Given the description of an element on the screen output the (x, y) to click on. 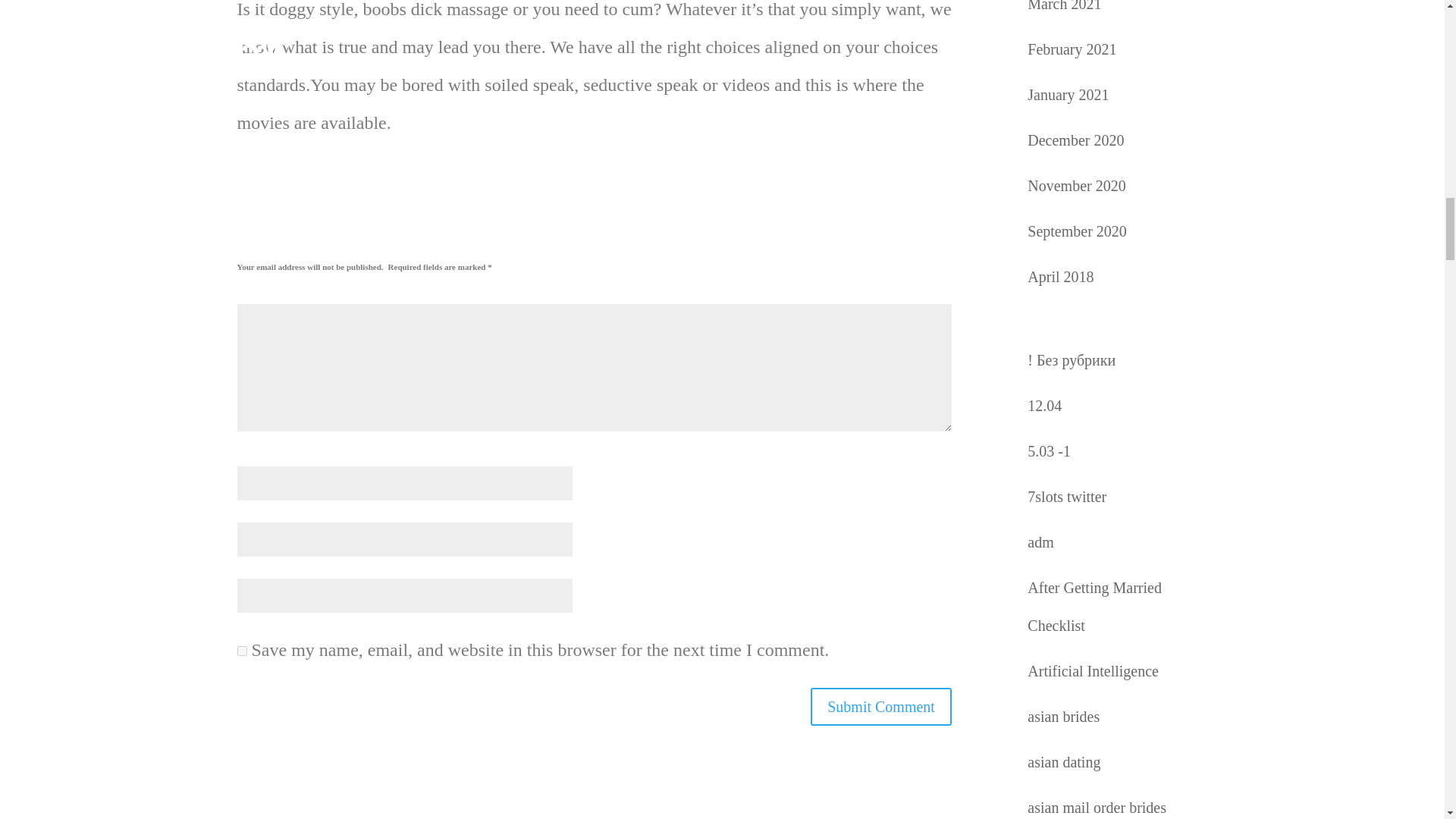
Submit Comment (881, 706)
yes (240, 651)
Submit Comment (881, 706)
